Given the description of an element on the screen output the (x, y) to click on. 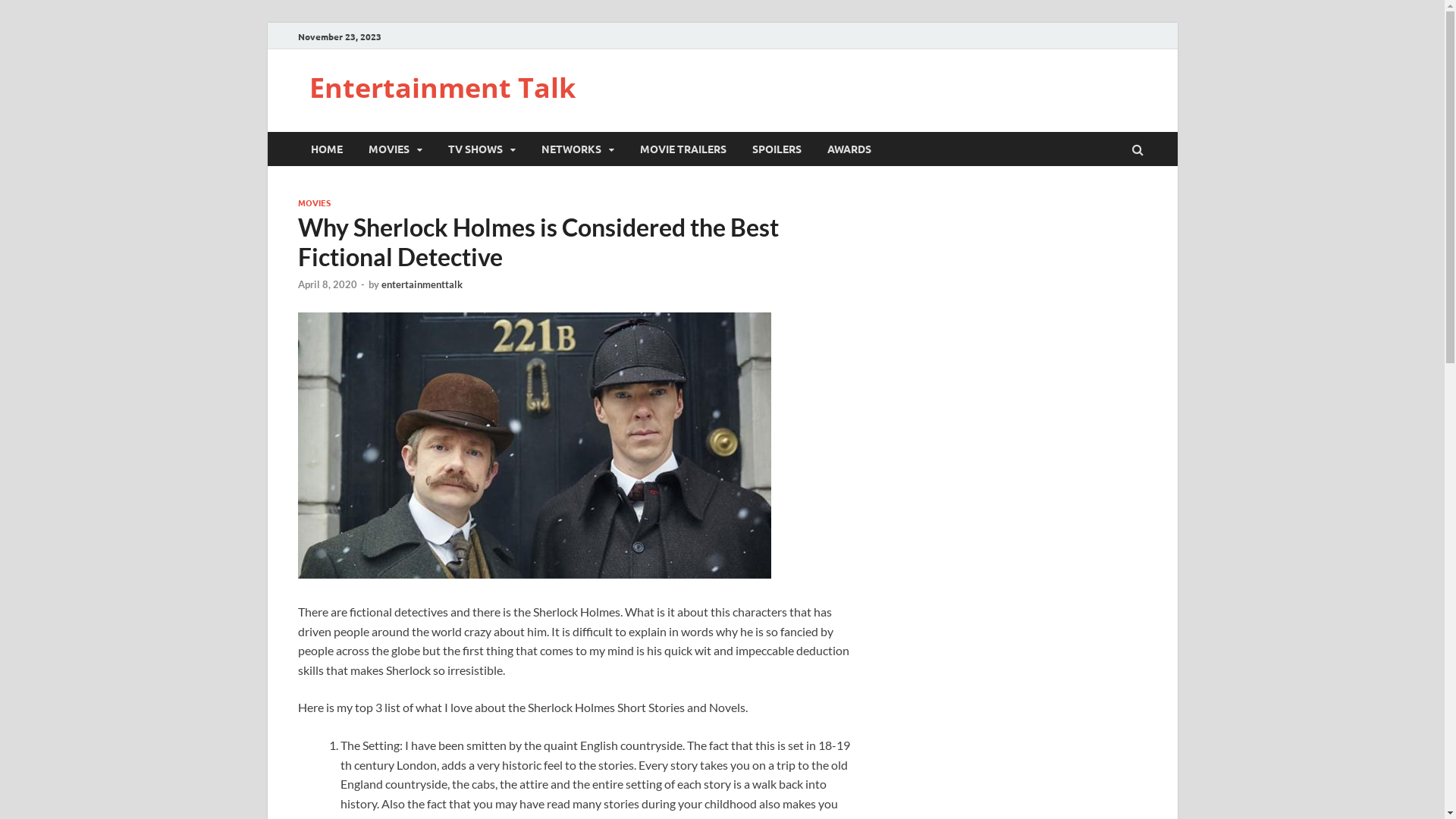
AWARDS Element type: text (849, 148)
HOME Element type: text (325, 148)
SPOILERS Element type: text (775, 148)
entertainmenttalk Element type: text (420, 284)
Entertainment Talk Element type: text (442, 87)
MOVIE TRAILERS Element type: text (682, 148)
April 8, 2020 Element type: text (326, 284)
MOVIES Element type: text (313, 202)
TV SHOWS Element type: text (481, 148)
NETWORKS Element type: text (576, 148)
MOVIES Element type: text (394, 148)
